Given the description of an element on the screen output the (x, y) to click on. 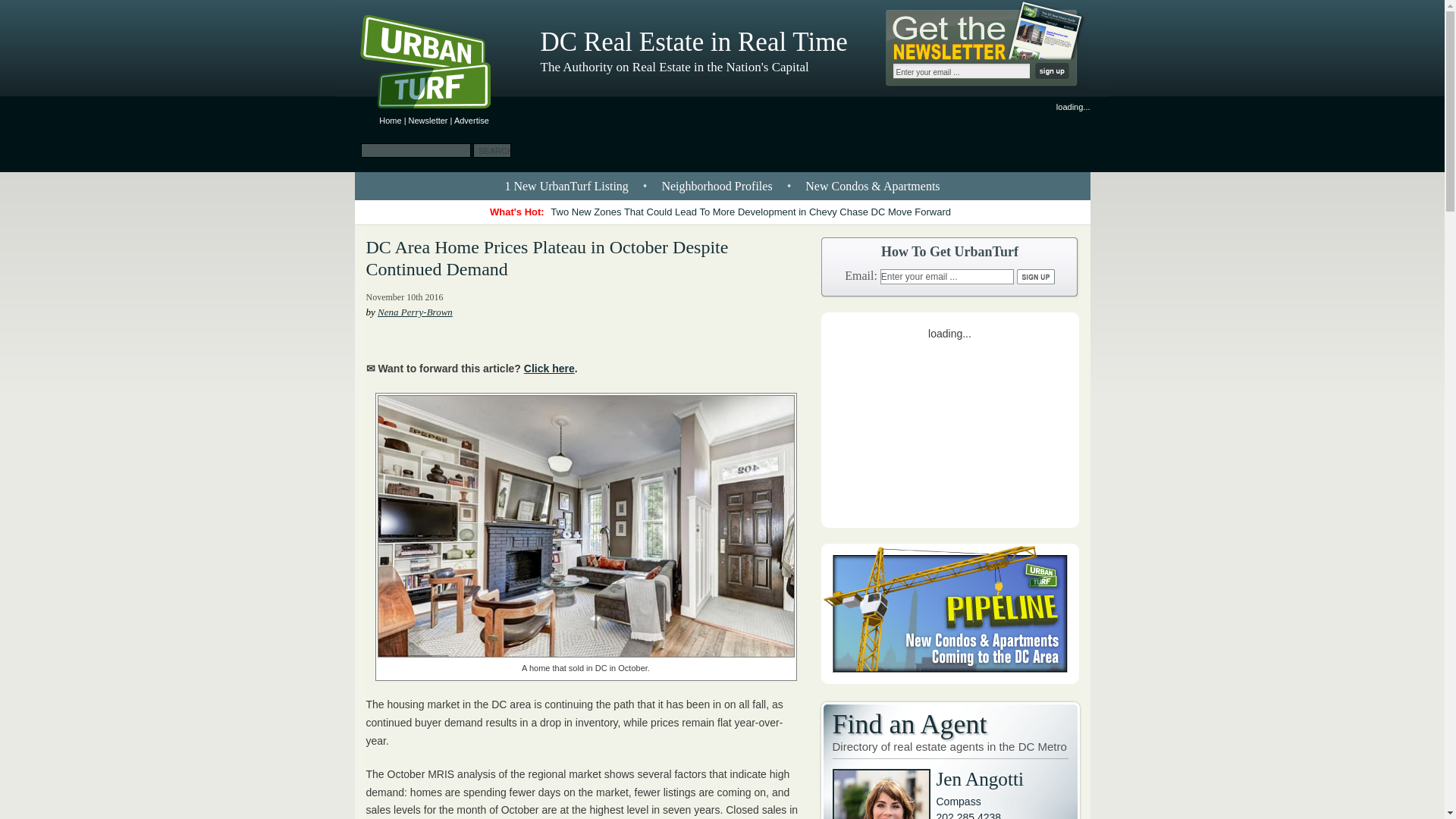
Neighborhood Profiles (716, 185)
UrbanTurf Newsletter (428, 120)
UrbanTurf (389, 120)
Nena Perry-Brown (414, 311)
Enter your email ... (946, 276)
1 New UrbanTurf Listing (566, 185)
Neighborhood Profiles (716, 185)
1 New UrbanTurf Listing (566, 185)
